Given the description of an element on the screen output the (x, y) to click on. 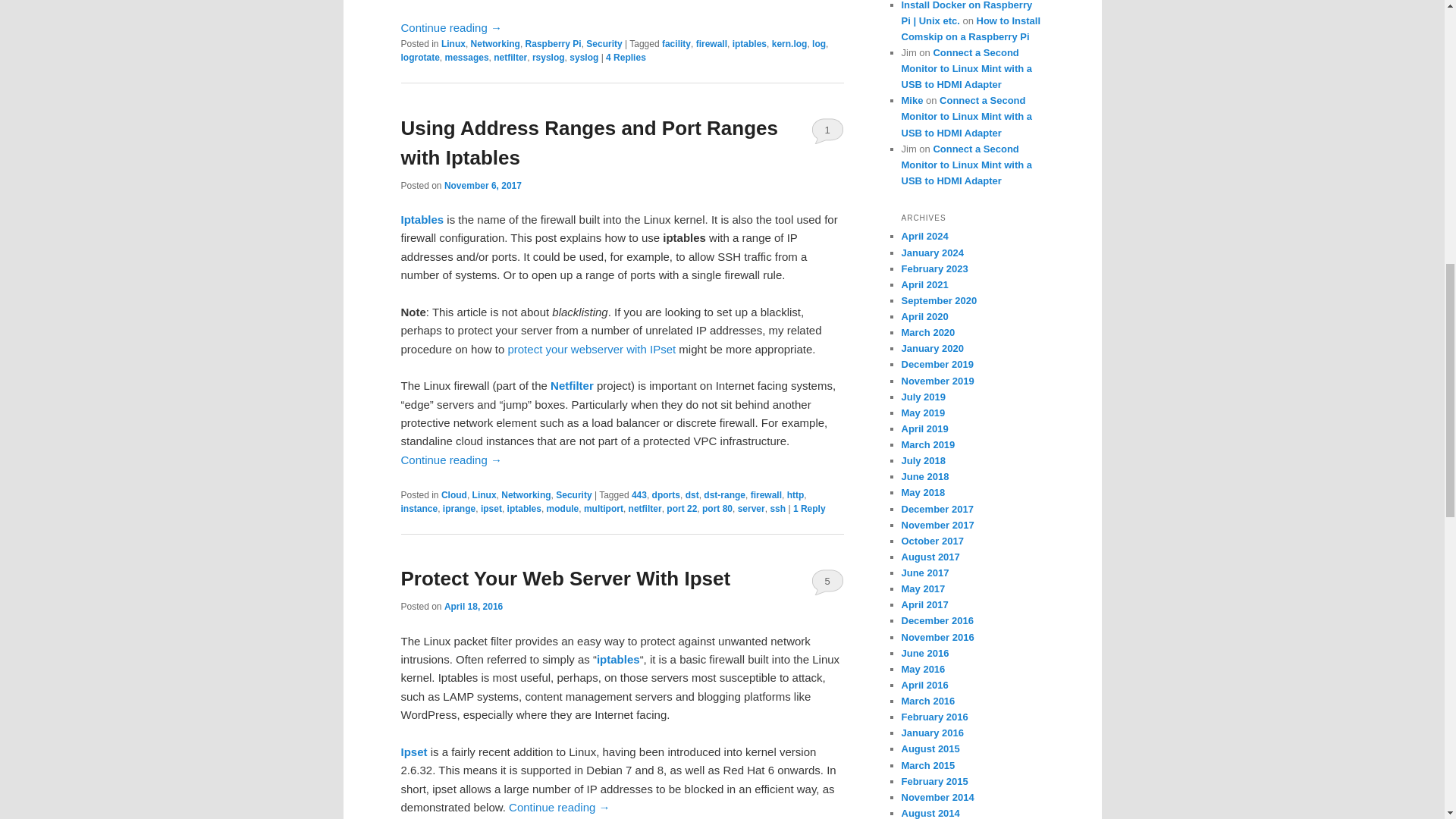
kern.log (789, 43)
Iptables (422, 219)
firewall (710, 43)
messages (467, 57)
Using Address Ranges and Port Ranges with Iptables (588, 142)
4 Replies (625, 57)
Networking (494, 43)
Security (603, 43)
rsyslog (548, 57)
Cloud (454, 494)
Linux (453, 43)
facility (676, 43)
November 6, 2017 (482, 185)
protect your webserver with IPset (590, 349)
Netfilter (572, 385)
